Given the description of an element on the screen output the (x, y) to click on. 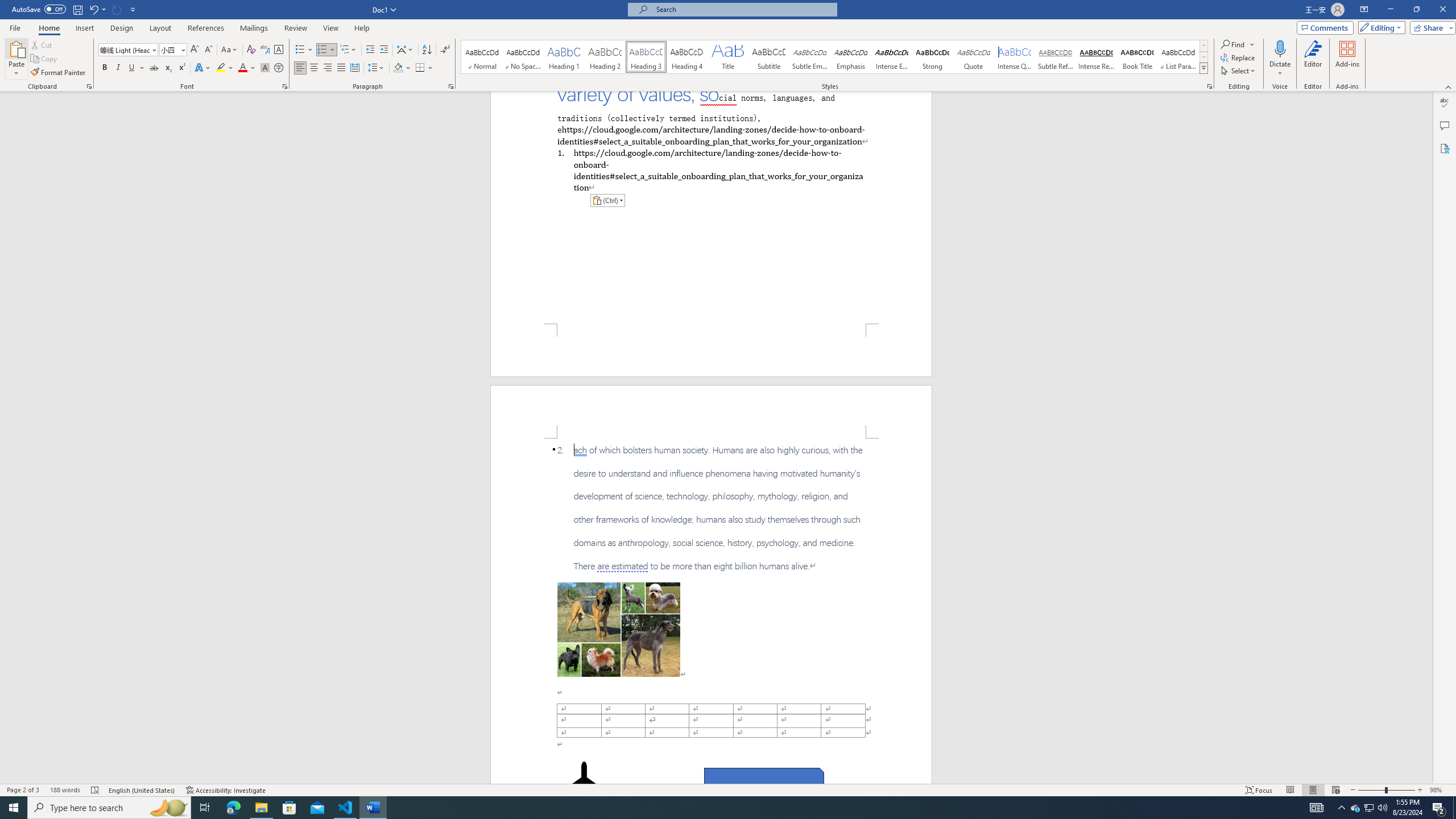
Action: Paste alternatives (606, 200)
Accessibility Checker Accessibility: Investigate (226, 790)
Asian Layout (405, 49)
Text Highlight Color Yellow (220, 67)
Book Title (1136, 56)
Clear Formatting (250, 49)
Select (1238, 69)
Distributed (354, 67)
